Given the description of an element on the screen output the (x, y) to click on. 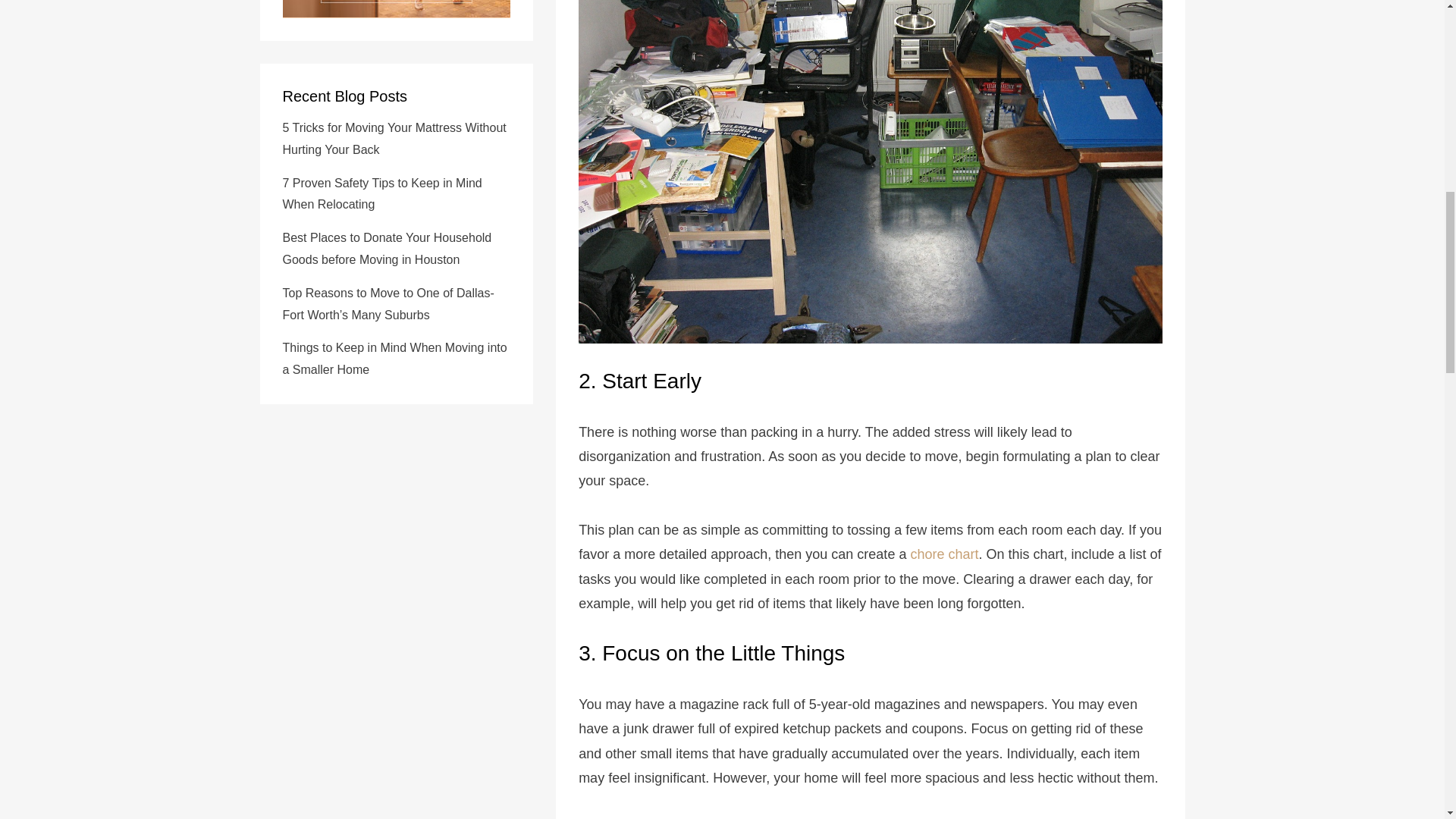
chore chart (944, 554)
7 Proven Safety Tips to Keep in Mind When Relocating (381, 193)
5 Tricks for Moving Your Mattress Without Hurting Your Back (393, 138)
Things to Keep in Mind When Moving into a Smaller Home (394, 358)
